Given the description of an element on the screen output the (x, y) to click on. 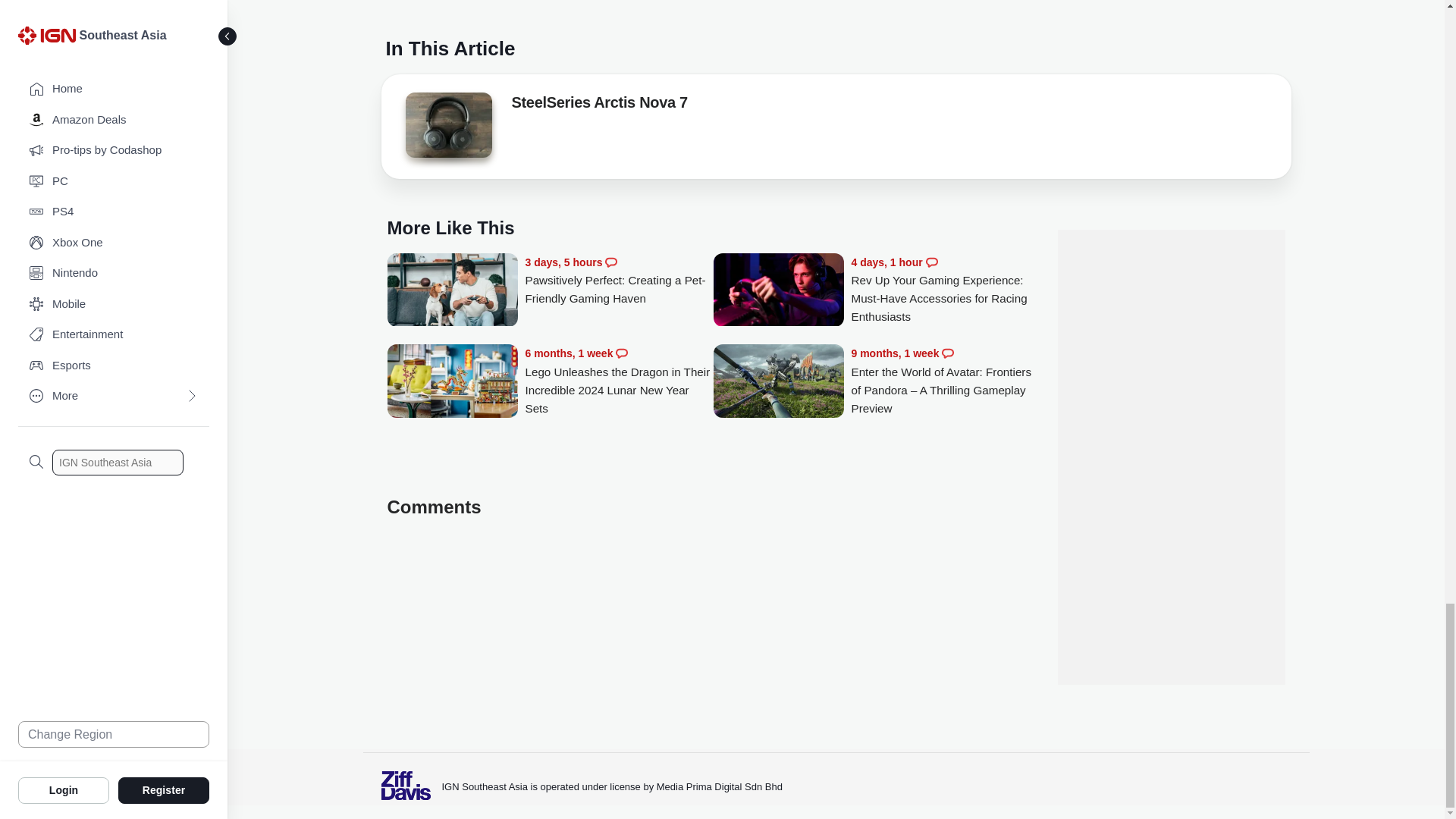
Pawsitively Perfect: Creating a Pet-Friendly Gaming Haven (618, 280)
Comments (931, 262)
Comments (611, 262)
SteelSeries Arctis Nova 7 (448, 125)
SteelSeries Arctis Nova 7 (448, 129)
Comments (621, 353)
Pawsitively Perfect: Creating a Pet-Friendly Gaming Haven (451, 291)
SteelSeries Arctis Nova 7 (599, 105)
